Given the description of an element on the screen output the (x, y) to click on. 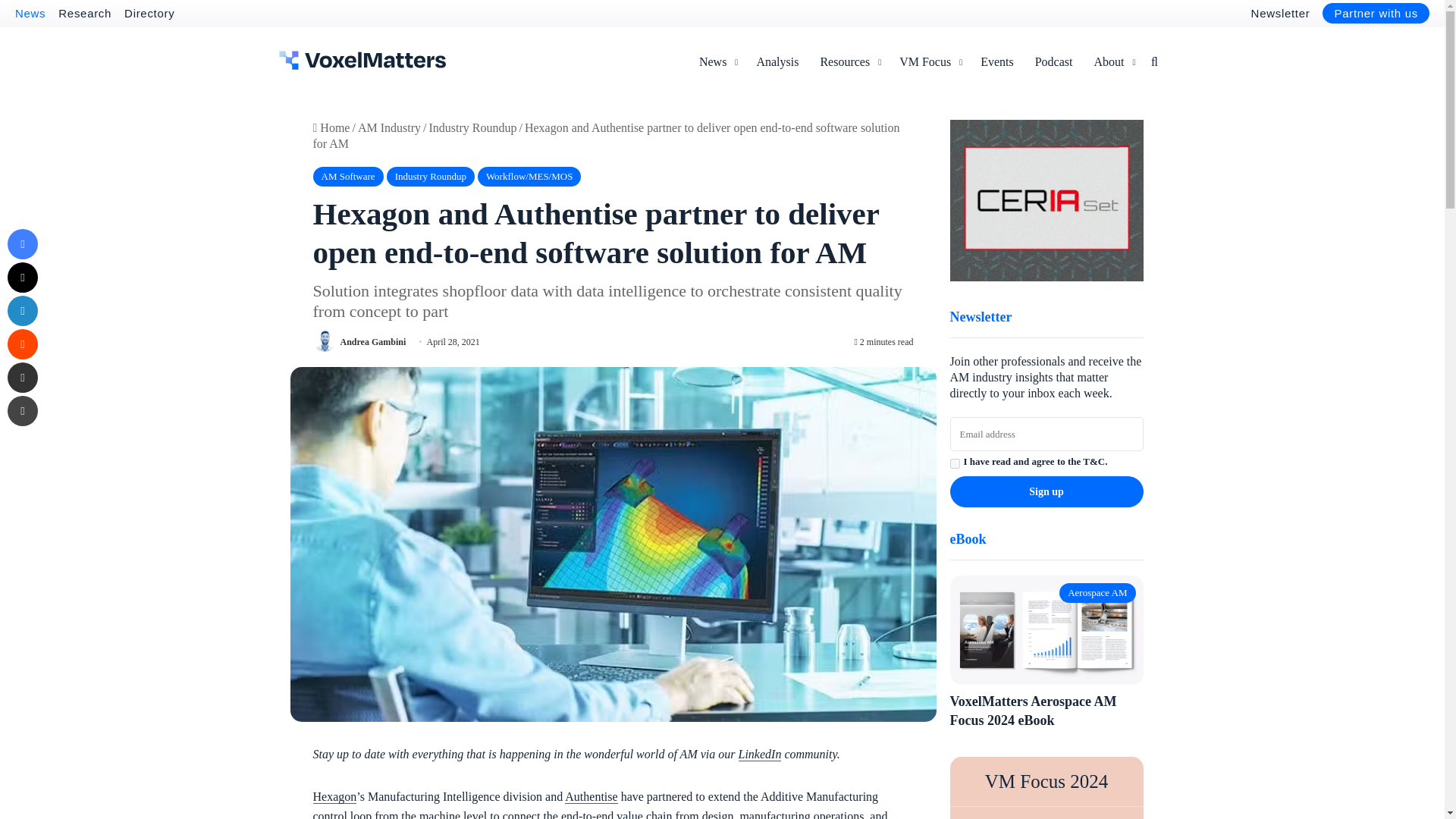
Research (85, 12)
Reddit (22, 344)
Facebook (22, 244)
Sign up (1045, 490)
Directory (148, 12)
Print (22, 410)
1 (954, 463)
Analysis (777, 62)
Share via Email (22, 377)
Newsletter (1280, 12)
Andrea Gambini (372, 341)
Partner with us (1375, 13)
X (22, 277)
Resources (848, 62)
News (29, 12)
